Given the description of an element on the screen output the (x, y) to click on. 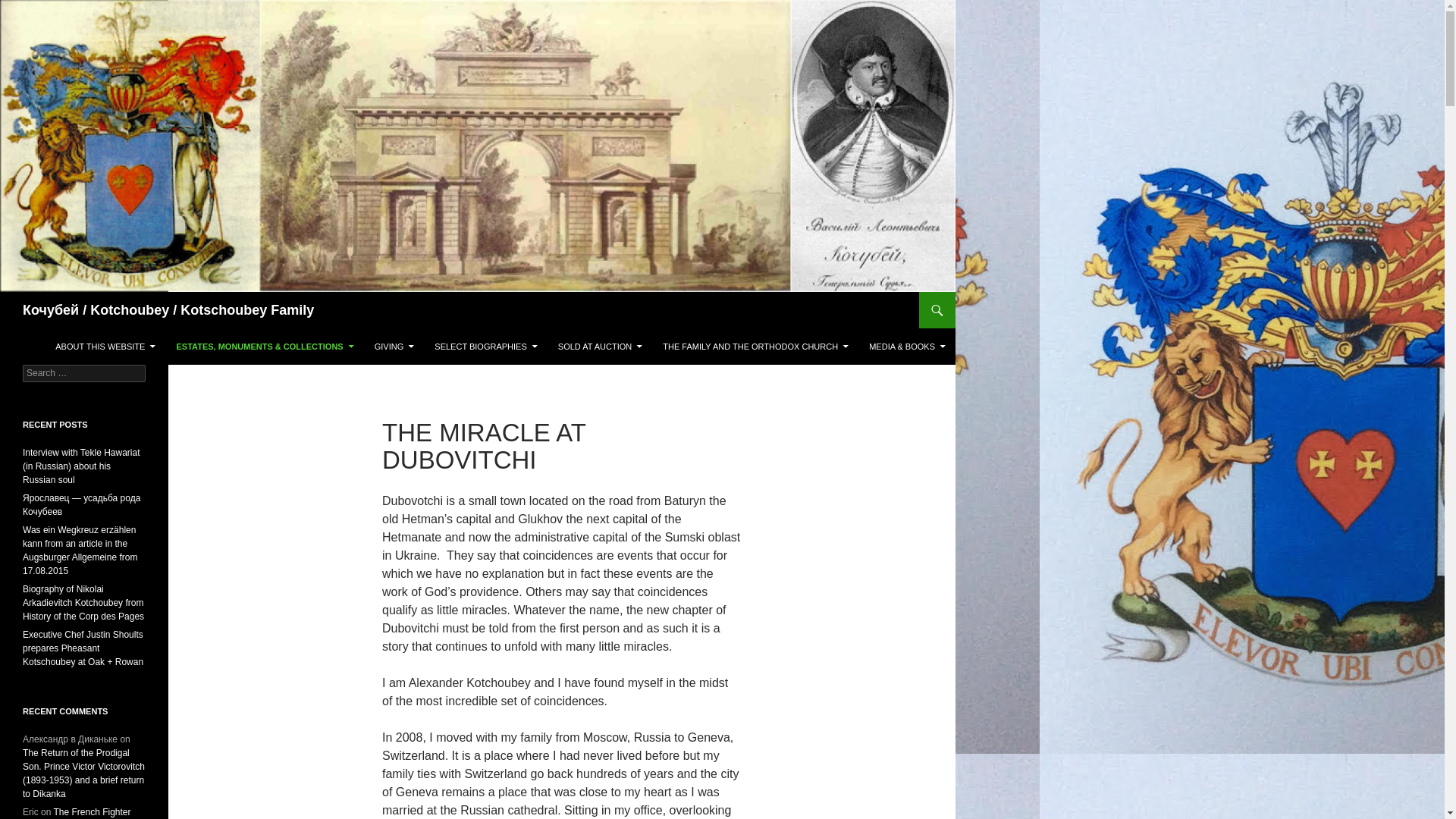
SKIP TO CONTENT (92, 334)
Search (23, 300)
ABOUT THIS WEBSITE (105, 346)
